Given the description of an element on the screen output the (x, y) to click on. 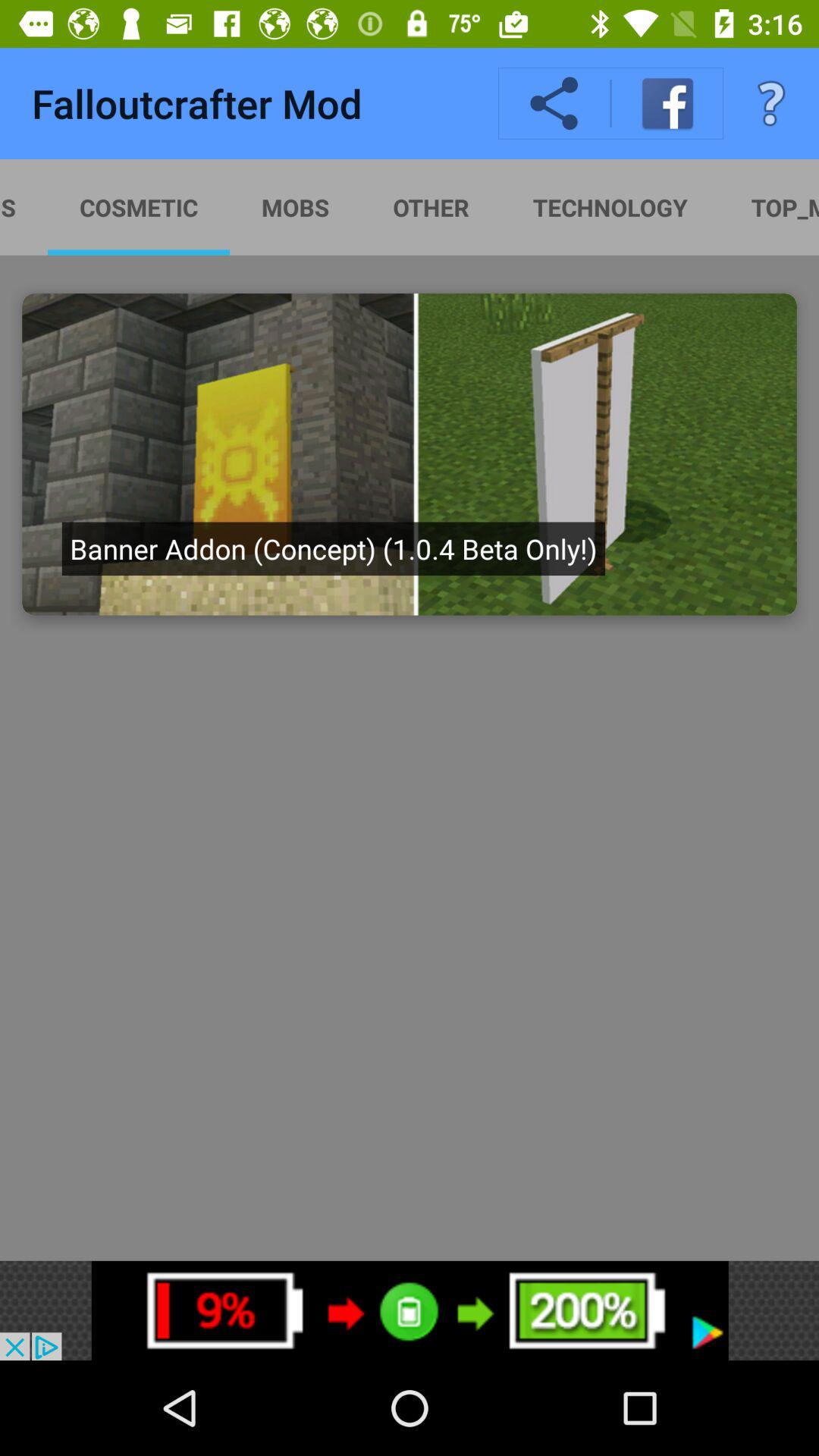
click on banner (409, 454)
